Given the description of an element on the screen output the (x, y) to click on. 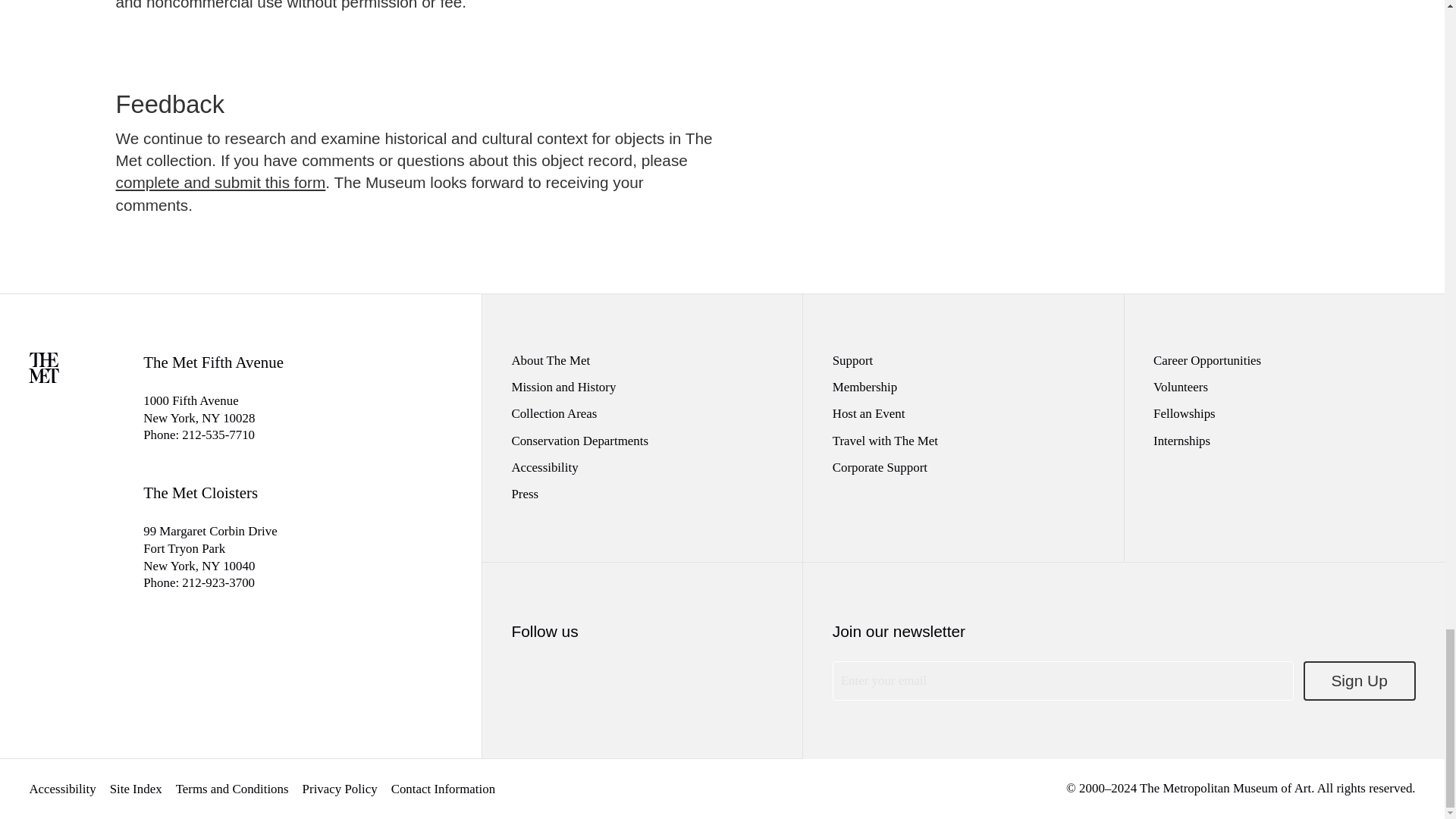
Homepage (44, 377)
